Given the description of an element on the screen output the (x, y) to click on. 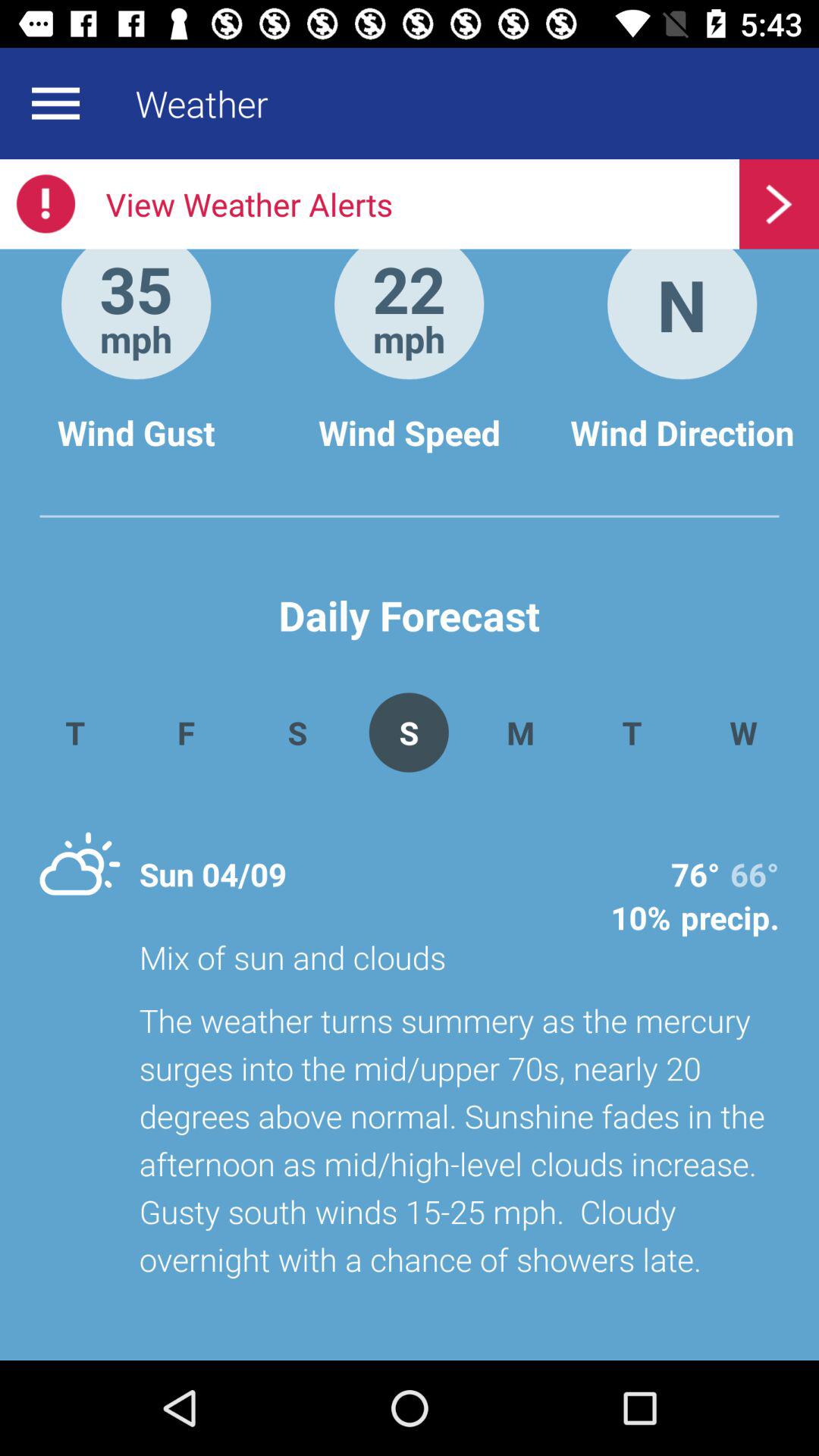
turn off the app to the right of t app (743, 732)
